Given the description of an element on the screen output the (x, y) to click on. 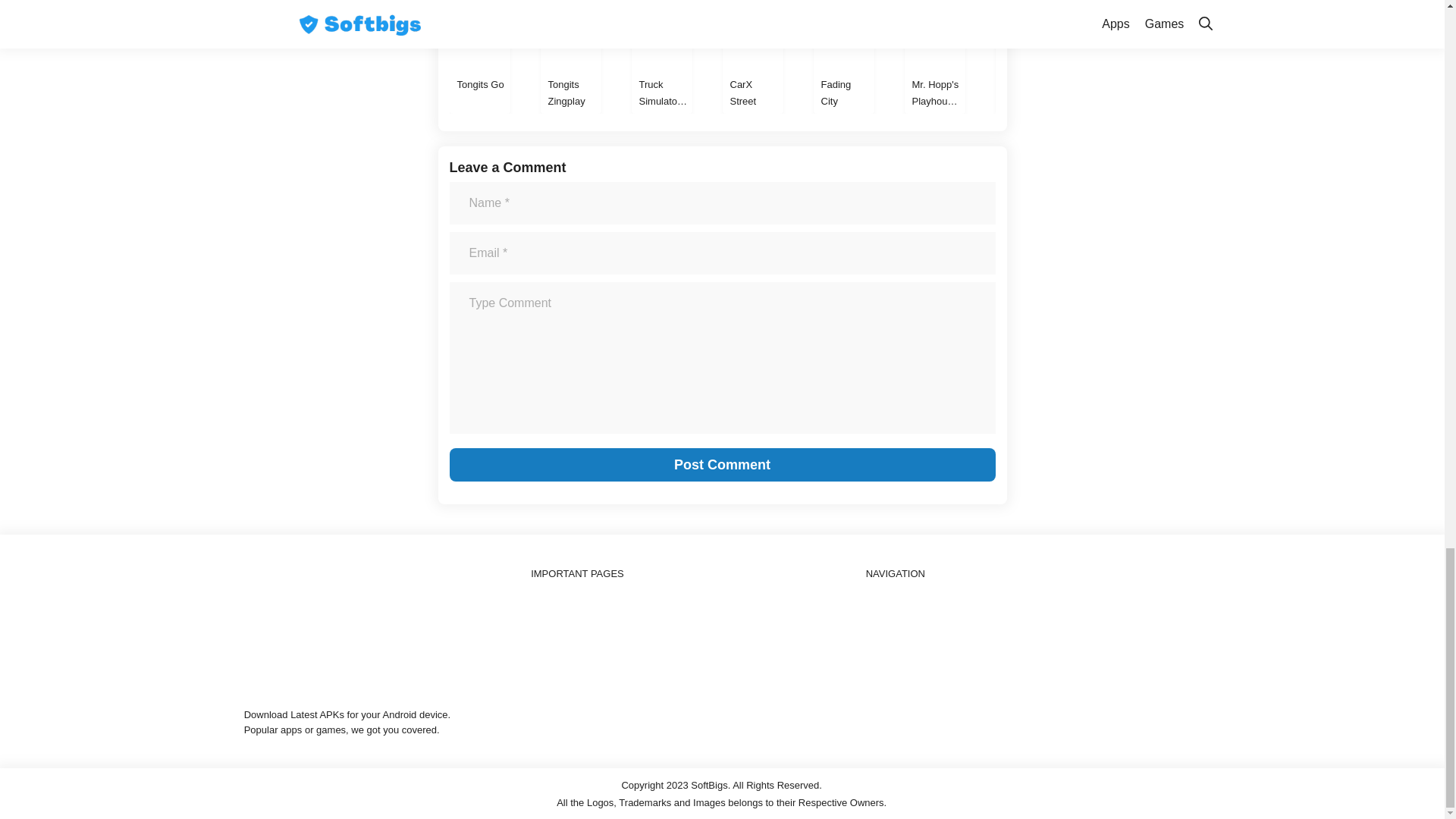
Post Comment (721, 464)
